Given the description of an element on the screen output the (x, y) to click on. 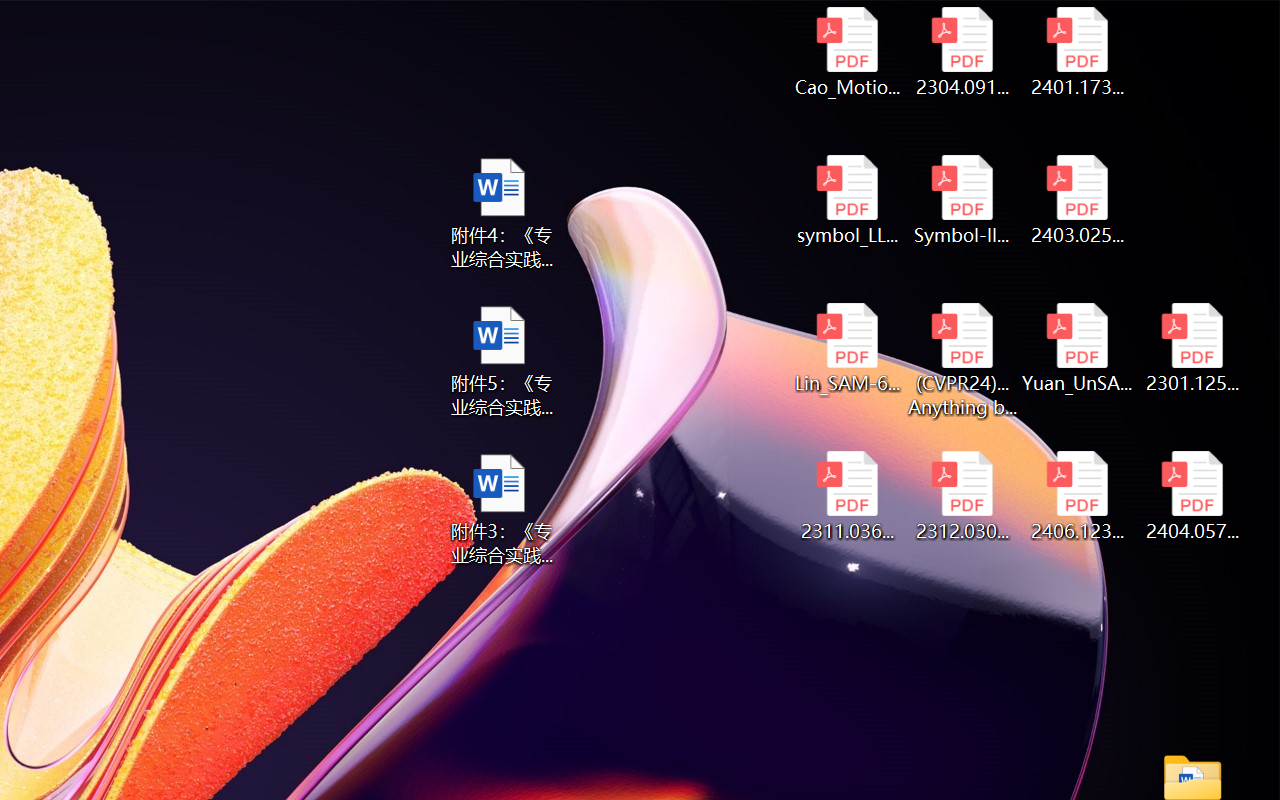
Settings - System (939, 22)
Sign in - Google Accounts (306, 22)
Chrome Web Store - Color themes by Chrome (228, 22)
